Given the description of an element on the screen output the (x, y) to click on. 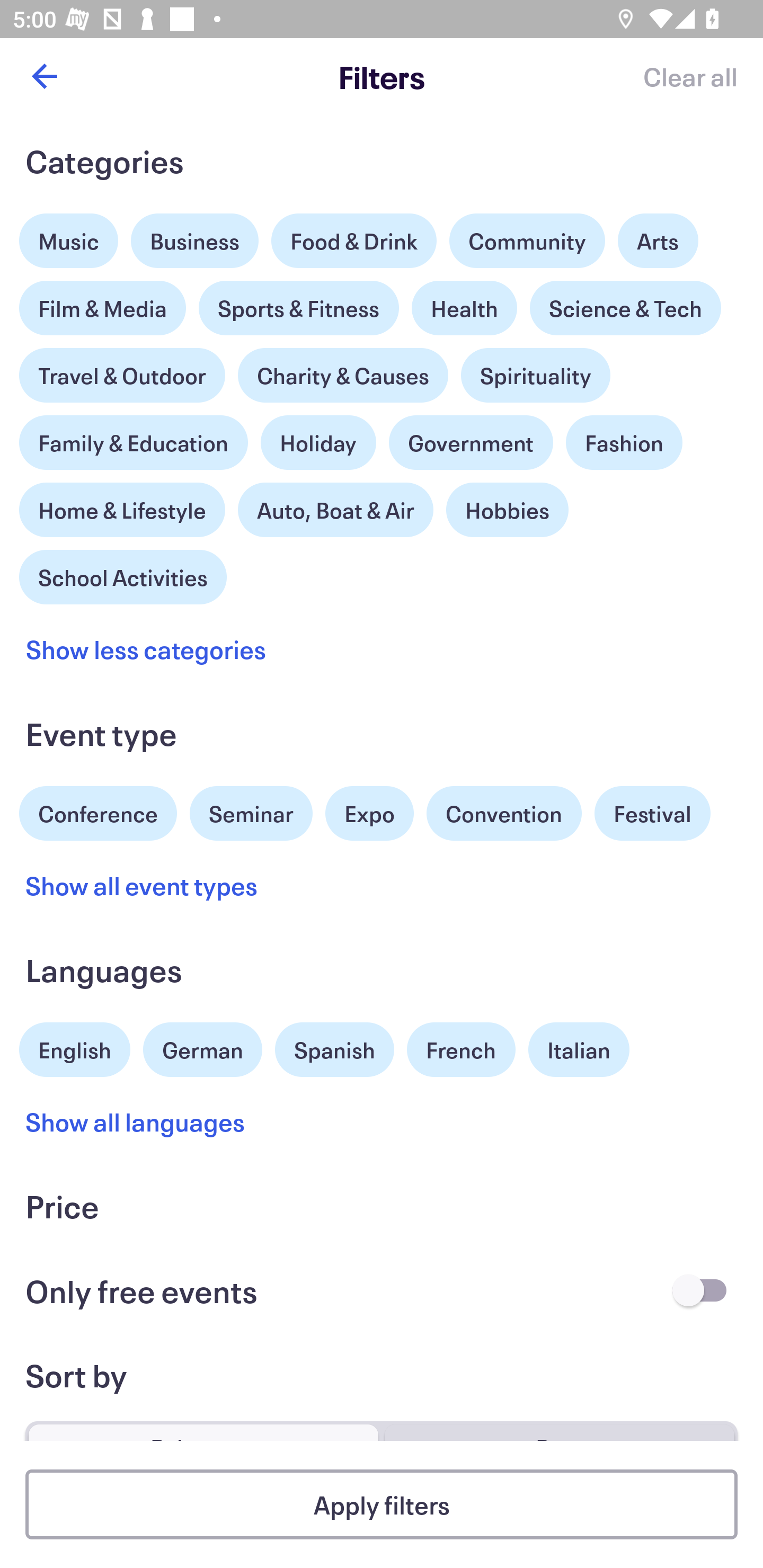
Back button (44, 75)
Clear all (690, 75)
Music (68, 235)
Business (194, 240)
Food & Drink (353, 240)
Community (527, 240)
Arts (658, 235)
Film & Media (102, 303)
Sports & Fitness (298, 307)
Health (464, 307)
Science & Tech (625, 307)
Travel & Outdoor (122, 370)
Charity & Causes (343, 375)
Spirituality (535, 375)
Family & Education (133, 442)
Holiday (318, 437)
Government (471, 442)
Fashion (624, 442)
Home & Lifestyle (122, 505)
Auto, Boat & Air (335, 509)
Hobbies (507, 509)
School Activities (122, 575)
Show less categories (145, 648)
Conference (98, 811)
Seminar (250, 813)
Expo (369, 813)
Convention (503, 813)
Festival (652, 813)
Show all event types (141, 884)
English (74, 1047)
German (202, 1047)
Spanish (334, 1049)
French (460, 1049)
Italian (578, 1049)
Show all languages (135, 1121)
Apply filters (381, 1504)
